Given the description of an element on the screen output the (x, y) to click on. 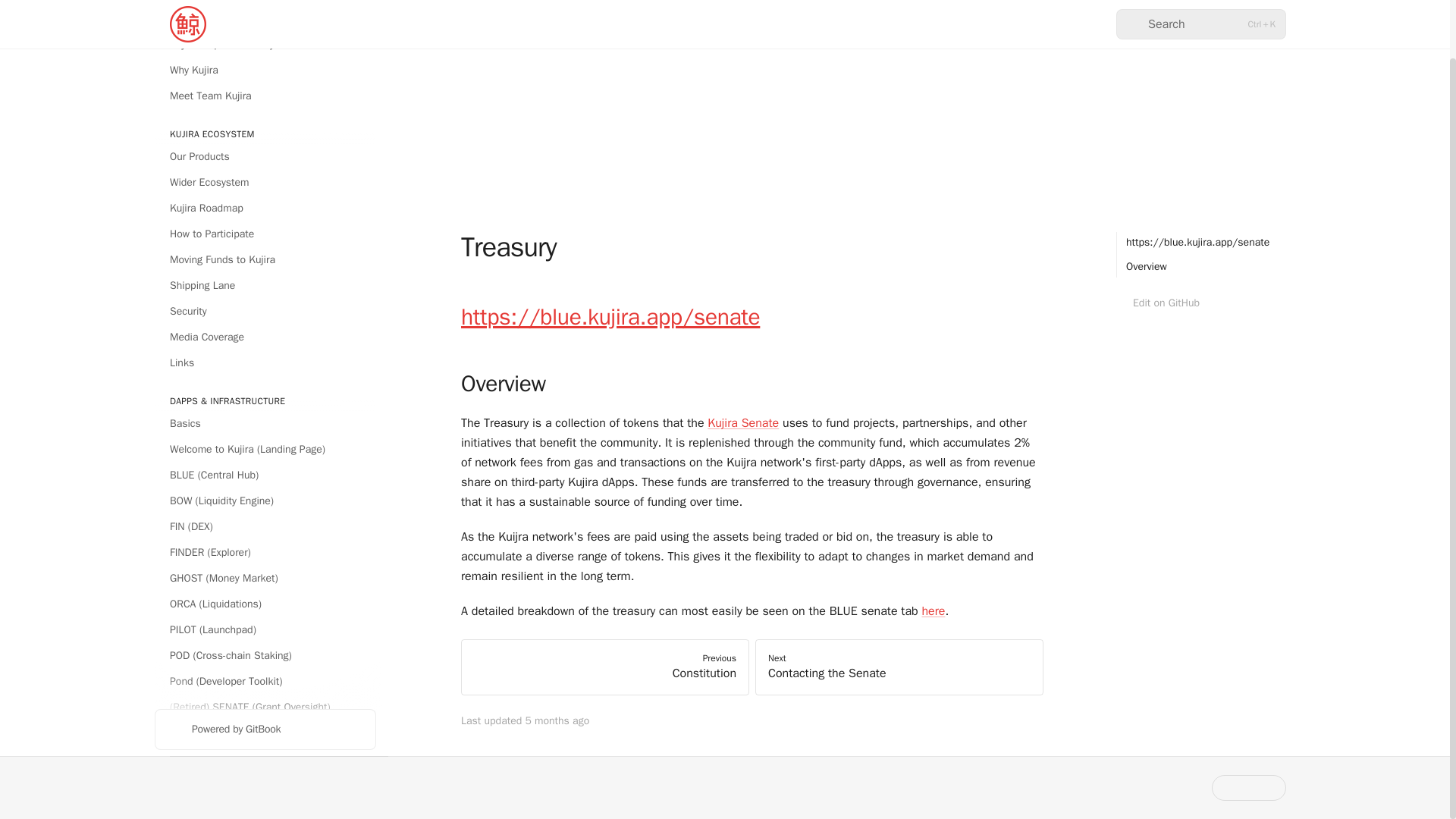
Basics (264, 423)
Moving Funds to Kujira (264, 259)
Meet Team Kujira (264, 96)
Security (264, 311)
How to Participate (264, 233)
Kujira Roadmap (264, 208)
Media Coverage (264, 337)
Kujira Empowers Everyone (264, 44)
Why Kujira (264, 70)
Links (264, 363)
